Given the description of an element on the screen output the (x, y) to click on. 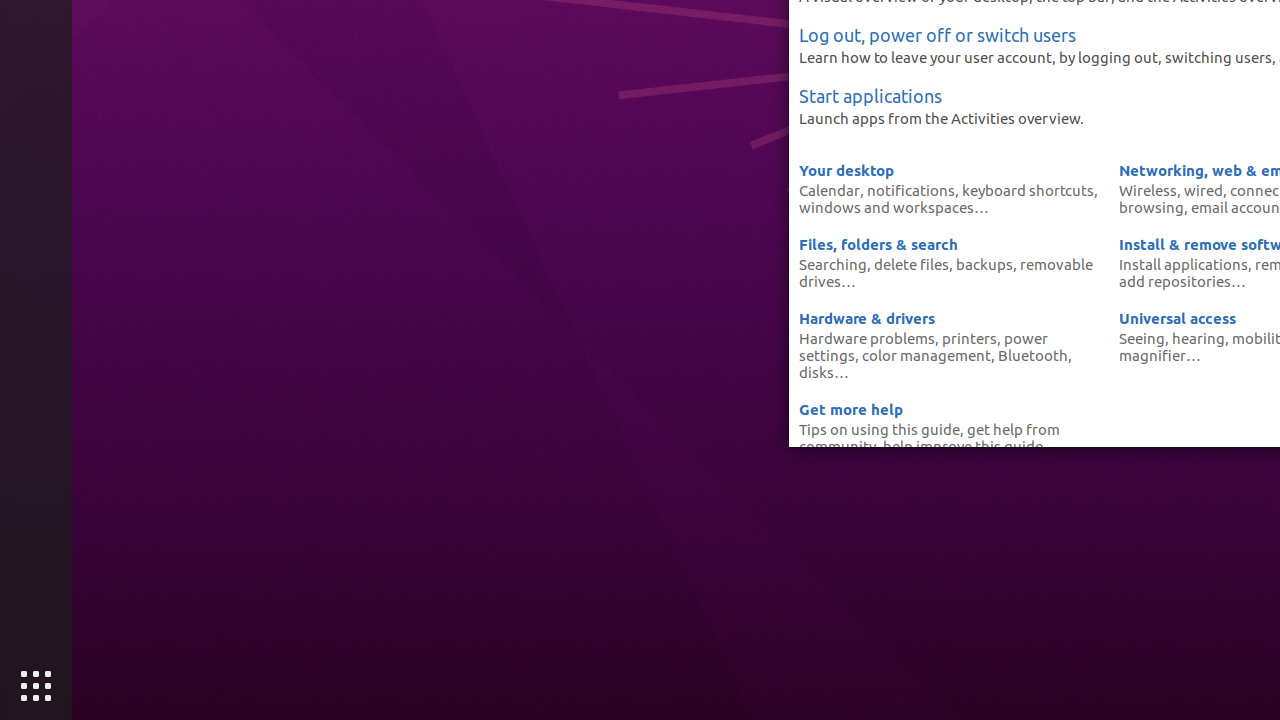
Files, folders & search Element type: link (878, 243)
disks Element type: link (816, 372)
hearing Element type: link (1198, 338)
color management Element type: link (926, 355)
help improve this guide Element type: link (963, 445)
